Given the description of an element on the screen output the (x, y) to click on. 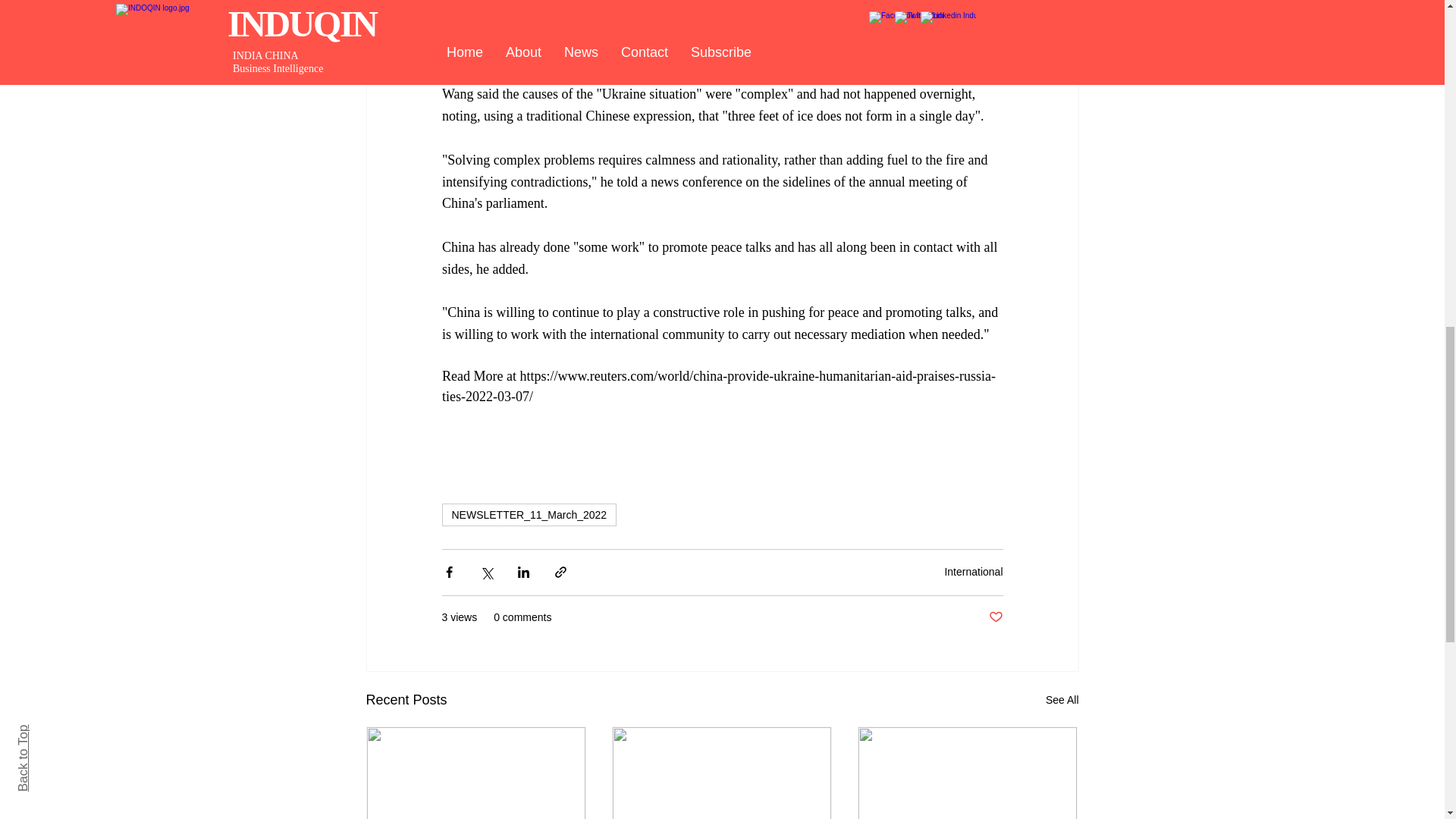
International (973, 571)
Post not marked as liked (995, 617)
See All (1061, 700)
